Given the description of an element on the screen output the (x, y) to click on. 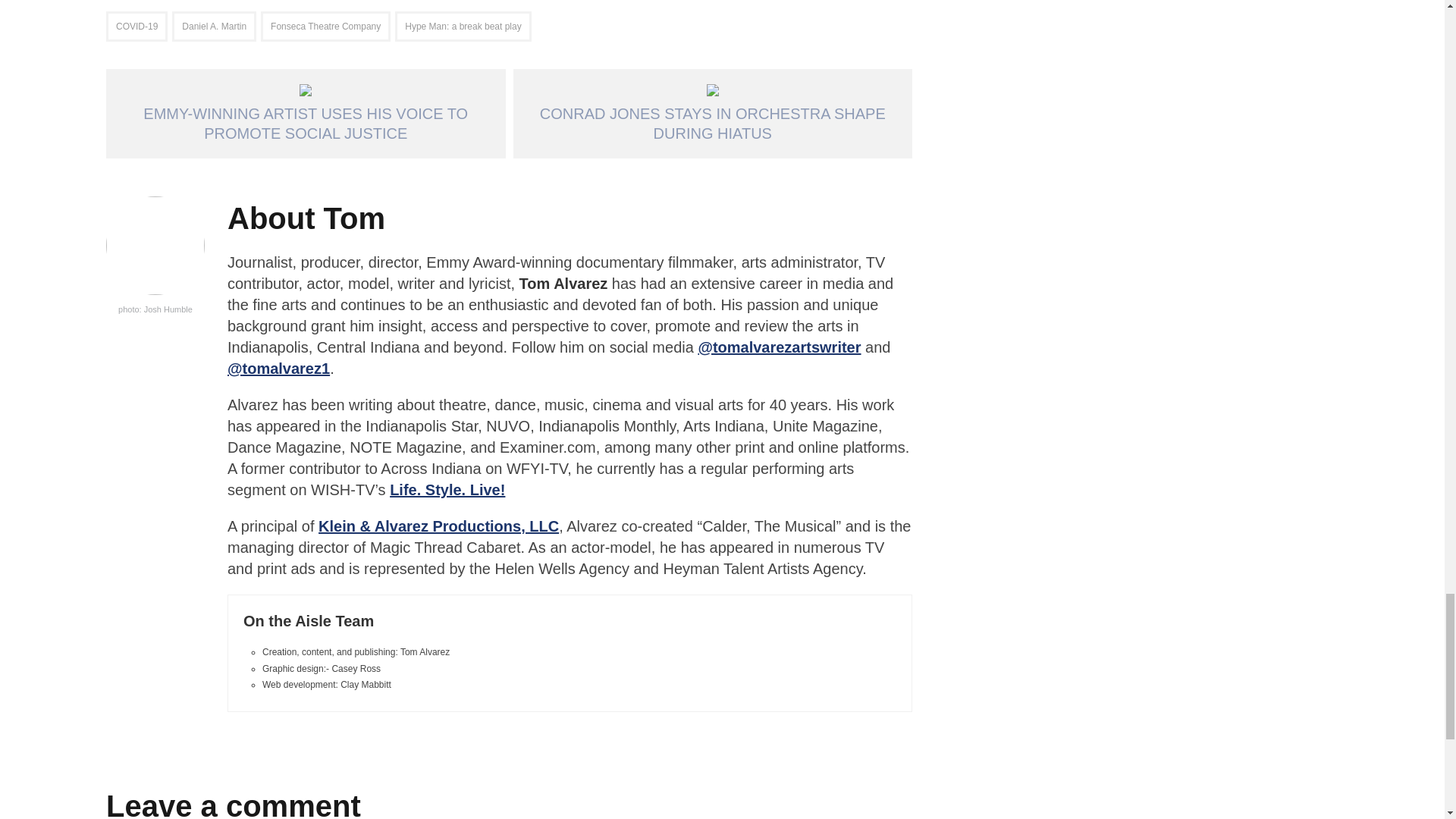
Fonseca Theatre Company (325, 26)
Daniel A. Martin (213, 26)
CONRAD JONES STAYS IN ORCHESTRA SHAPE DURING HIATUS (712, 113)
EMMY-WINNING ARTIST USES HIS VOICE TO PROMOTE SOCIAL JUSTICE (305, 113)
Hype Man: a break beat play (462, 26)
Life. Style. Live! (447, 489)
COVID-19 (136, 26)
